Given the description of an element on the screen output the (x, y) to click on. 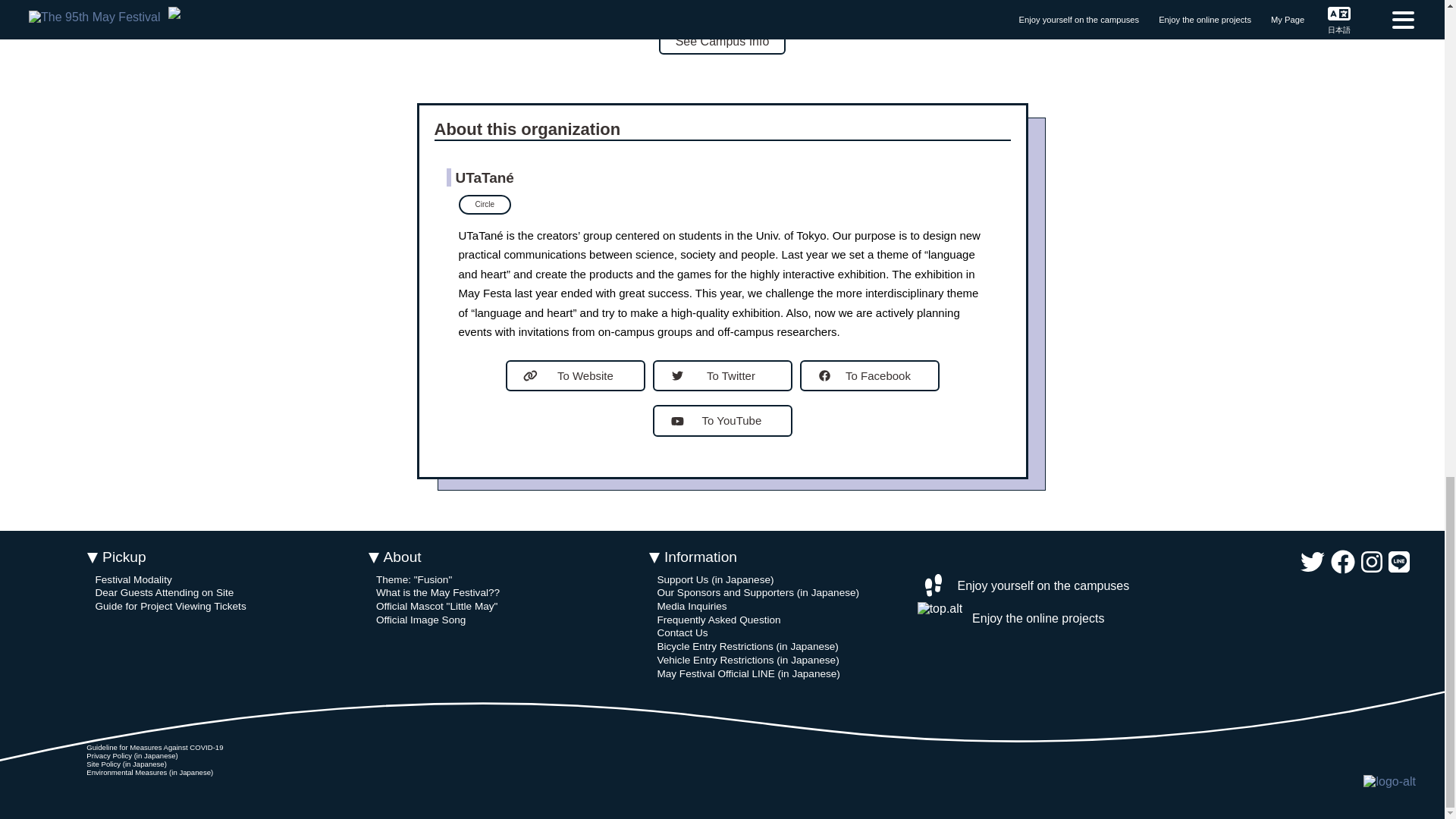
Official Mascot "Little May" (436, 605)
Festival Modality (132, 579)
Circle (484, 204)
Guide for Project Viewing Tickets (170, 605)
Theme: "Fusion" (413, 579)
To YouTube (722, 420)
Dear Guests Attending on Site (163, 592)
To Twitter (722, 376)
What is the May Festival?? (437, 592)
Official Image Song (420, 619)
To Facebook (869, 376)
See Campus Info (722, 41)
To Website (575, 376)
